Given the description of an element on the screen output the (x, y) to click on. 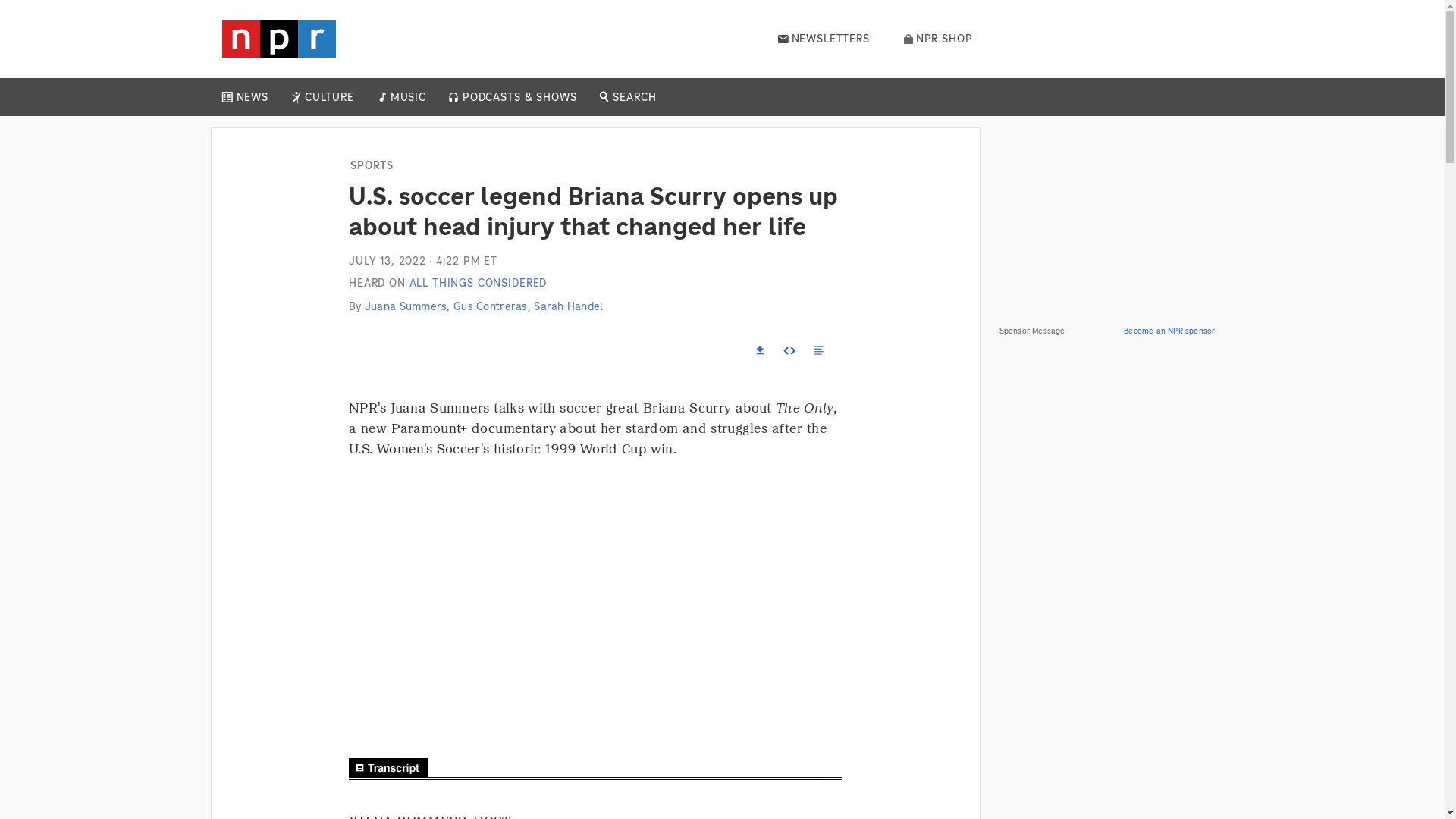
MUSIC (407, 96)
NEWSLETTERS (823, 38)
NPR SHOP (938, 38)
NEWS (251, 96)
CULTURE (328, 96)
